Given the description of an element on the screen output the (x, y) to click on. 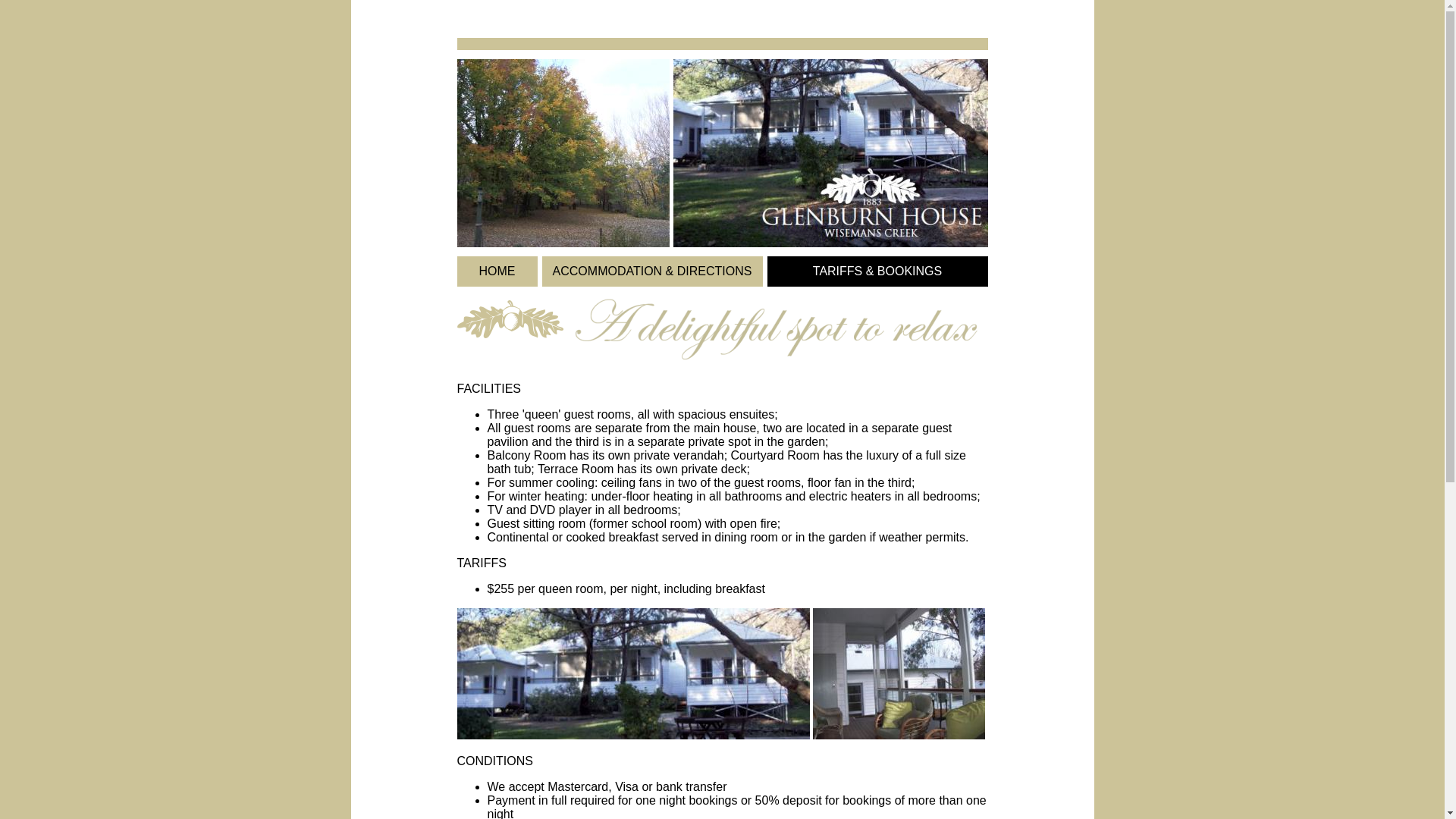
ACCOMMODATION & DIRECTIONS Element type: text (652, 270)
HOME Element type: text (497, 270)
